Given the description of an element on the screen output the (x, y) to click on. 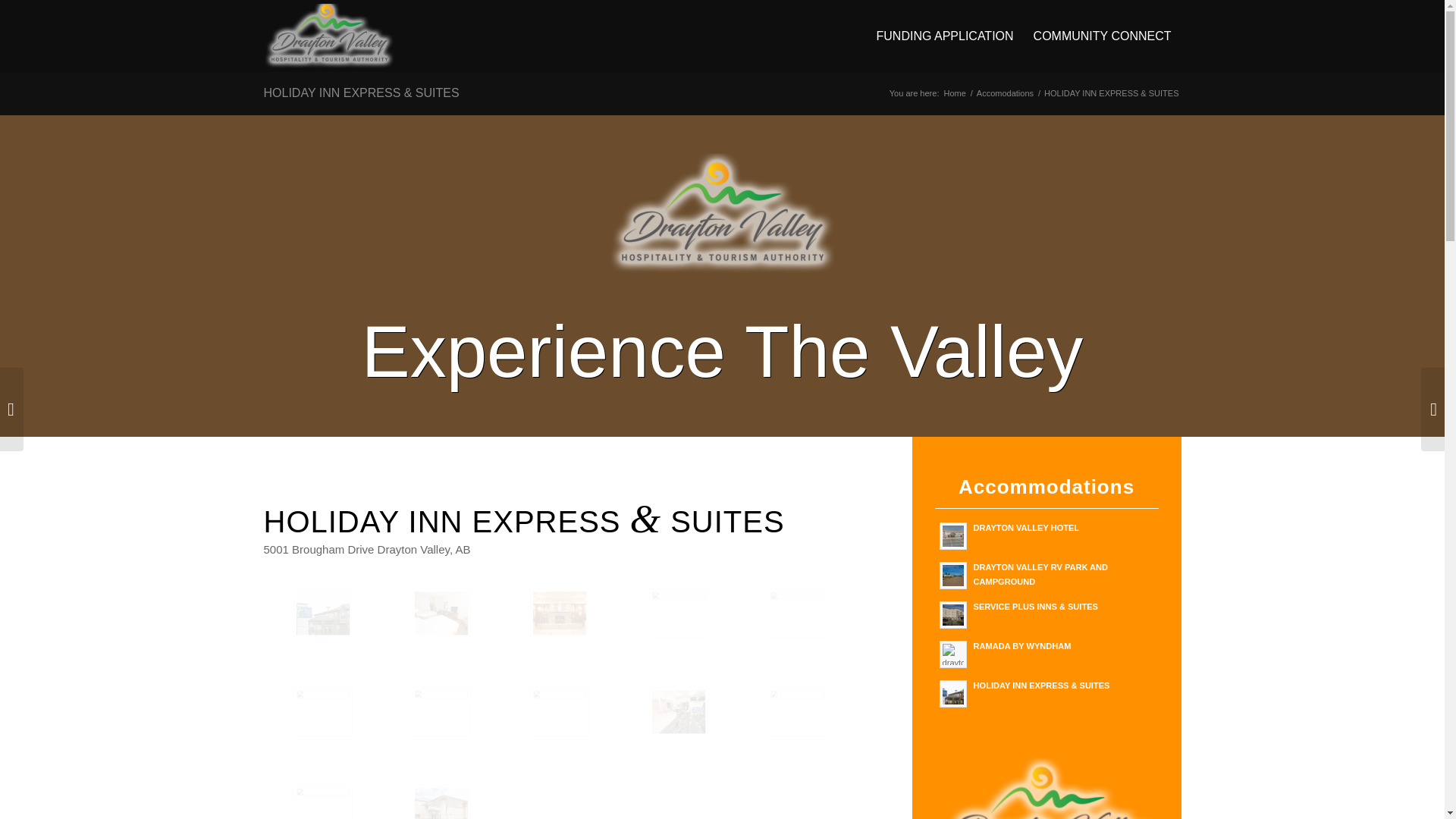
RAMADA BY WYNDHAM (1046, 653)
Holiday-Inn-Drayton-Valley-Standard-Two-Queen-2 (470, 637)
DRAYTON VALLEY HOTEL (1046, 534)
Home (954, 93)
Holiday-Inn-Drayton-Valley-Jacuzzi-Suite-1 (708, 637)
DRAYTON VALLEY RV PARK AND CAMPGROUND (1046, 573)
Holiday-Inn-Drayton-Valley-Jacuzzi-Suite-1 (679, 613)
Holiday-Inn-Drayton-Valley-Lobby-4 (559, 613)
dvhta logo (721, 213)
holiday-inn-express-drayton-valley (322, 613)
Holiday-Inn-Drayton-Valley-Lobby-4 (590, 637)
COMMUNITY CONNECT (1101, 36)
holiday-inn-express-drayton-valley (353, 637)
Holiday-Inn-Drayton-Valley-Standard-Two-Queen-2 (440, 613)
Accomodations (1004, 93)
